Given the description of an element on the screen output the (x, y) to click on. 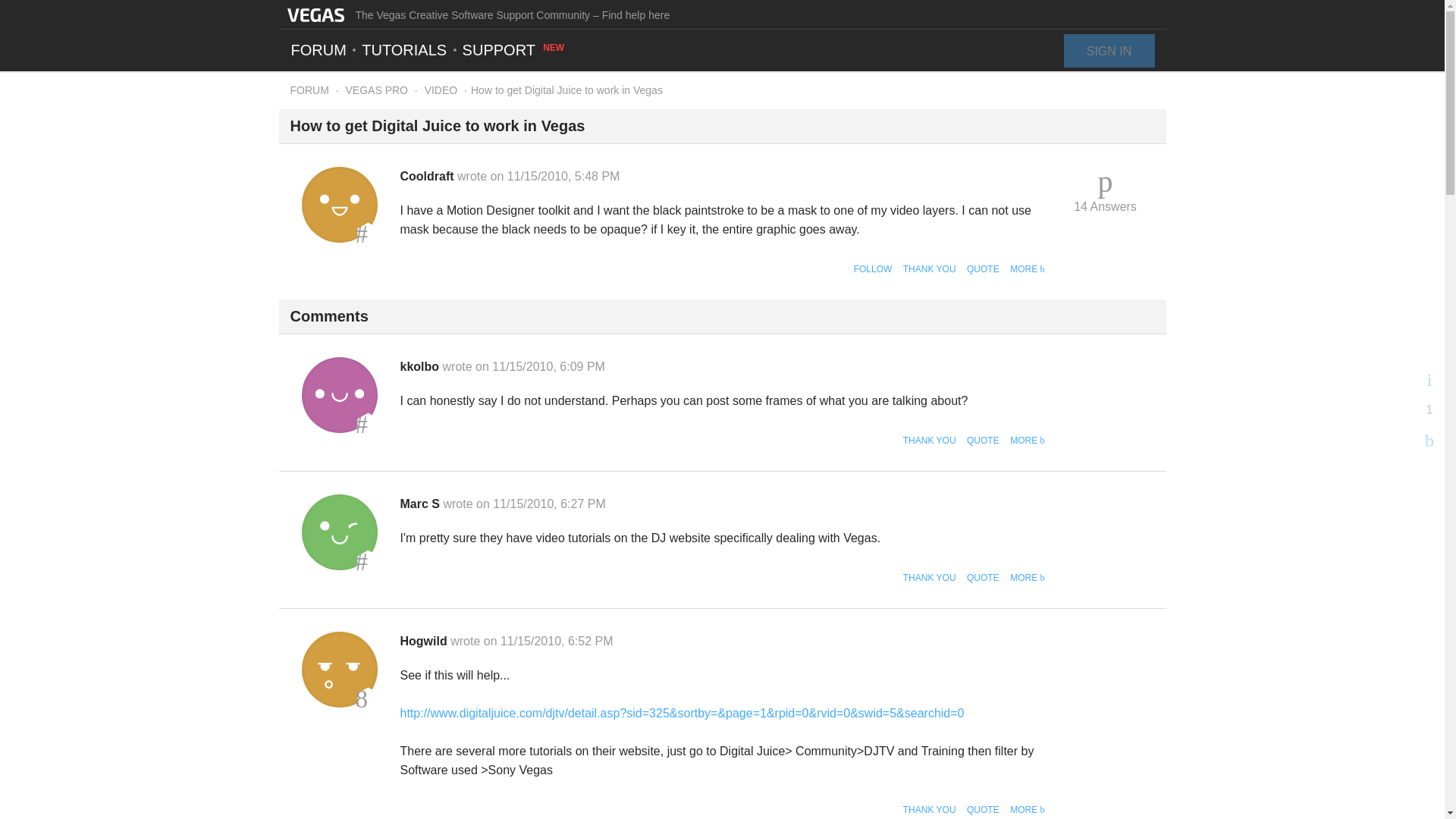
SIGN IN (1108, 50)
QUOTE (982, 577)
Cooldraft (429, 175)
FORUM (309, 90)
MORE (1026, 439)
Hogwild (339, 669)
MORE (1026, 268)
MORE (1026, 577)
THANK YOU (929, 268)
QUOTE (982, 440)
